Given the description of an element on the screen output the (x, y) to click on. 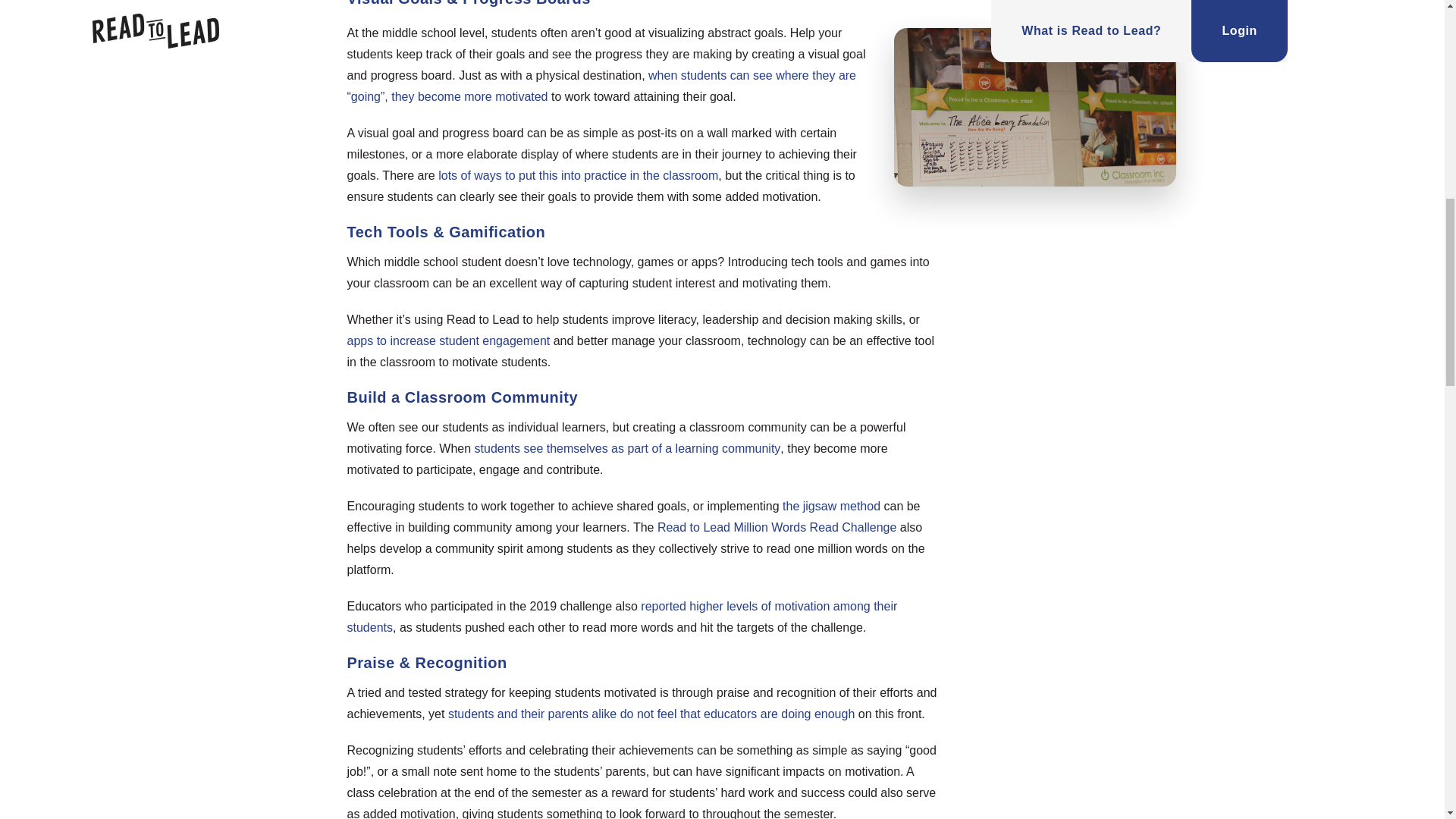
Read to Lead Million Words Read Challenge (777, 526)
the jigsaw method (831, 504)
reported higher levels of motivation among their students (622, 615)
students see themselves as part of a learning community (627, 447)
lots of ways to put this into practice in the classroom (577, 174)
apps to increase student engagement (448, 339)
